Given the description of an element on the screen output the (x, y) to click on. 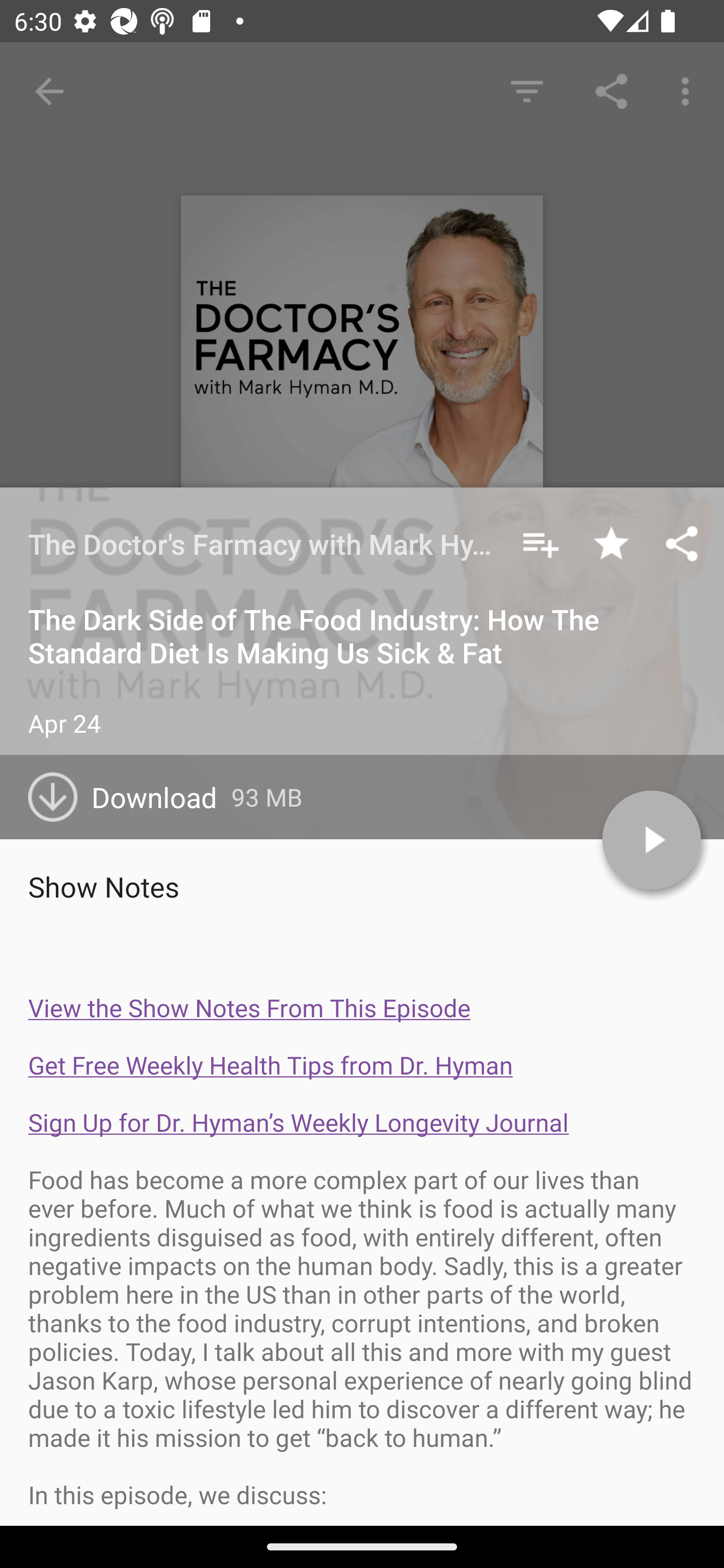
Download (129, 797)
